Given the description of an element on the screen output the (x, y) to click on. 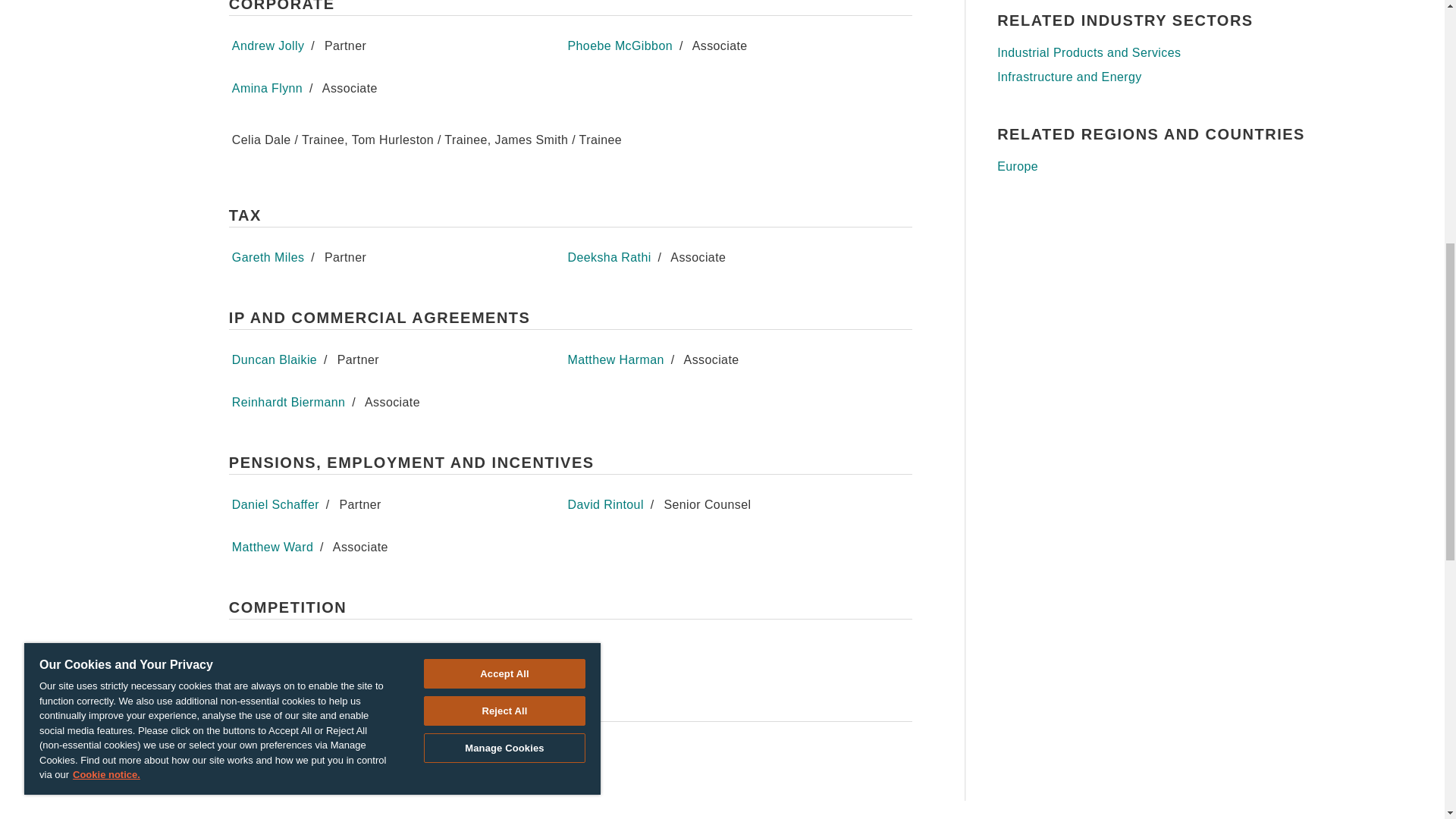
Andrew Jolly (267, 45)
Matthew Harman (615, 359)
Reinhardt Biermann (288, 401)
Industrial Products and Services (1156, 53)
Phoebe McGibbon (619, 45)
Europe (1156, 167)
Matthew Ward (272, 546)
Daniel Schaffer (274, 504)
Amina Flynn (266, 88)
Samantha Brady (278, 751)
Duncan Blaikie (274, 359)
Deeksha Rathi (608, 256)
Gareth Miles (267, 256)
David Rintoul (605, 504)
Claire Jeffs (264, 649)
